Given the description of an element on the screen output the (x, y) to click on. 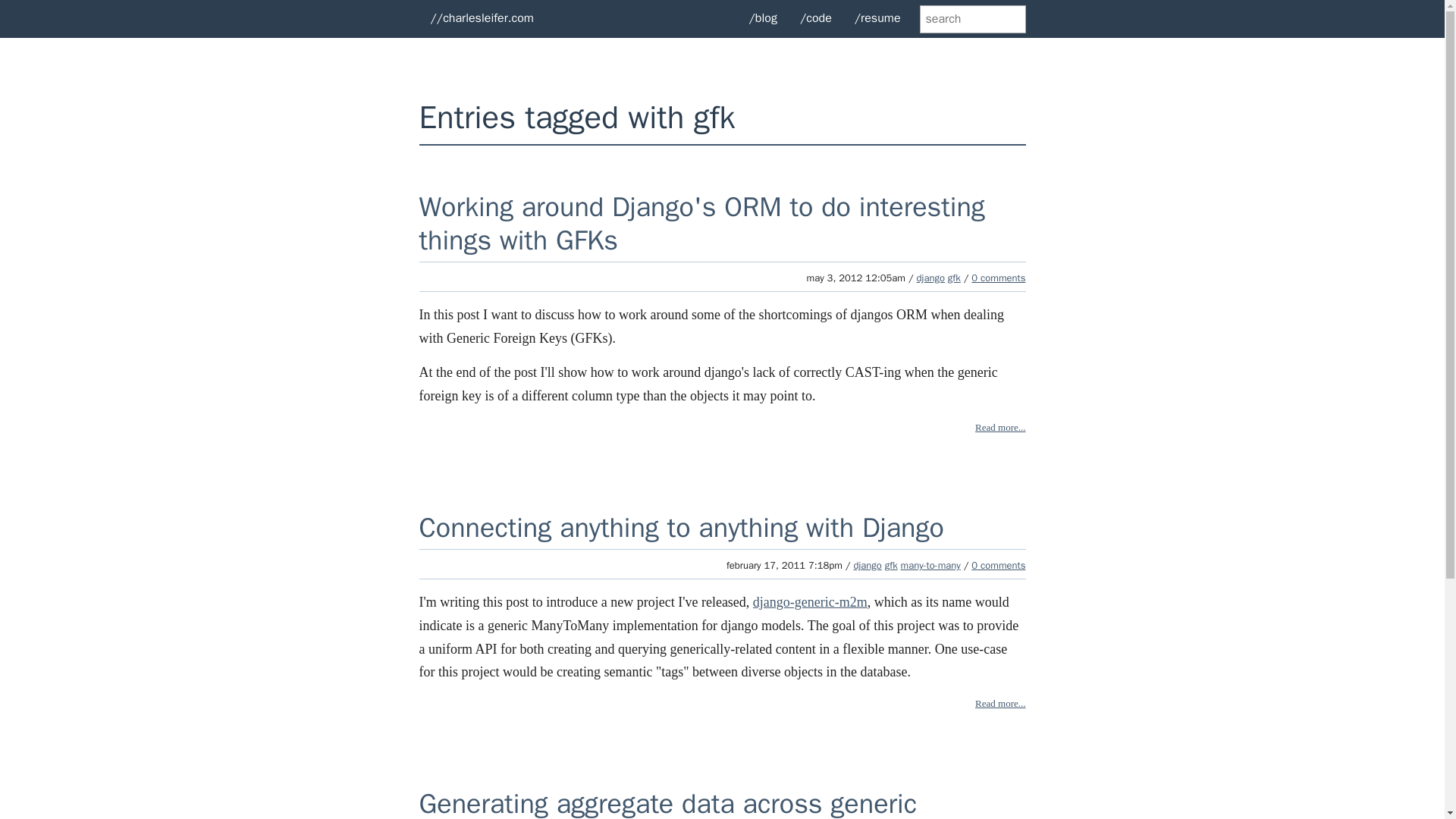
0 comments (998, 564)
django (930, 277)
gfk (891, 564)
0 comments (998, 277)
Read more... (1000, 427)
django (866, 564)
many-to-many (930, 564)
Read more... (1000, 703)
gfk (953, 277)
Connecting anything to anything with Django (681, 527)
